Given the description of an element on the screen output the (x, y) to click on. 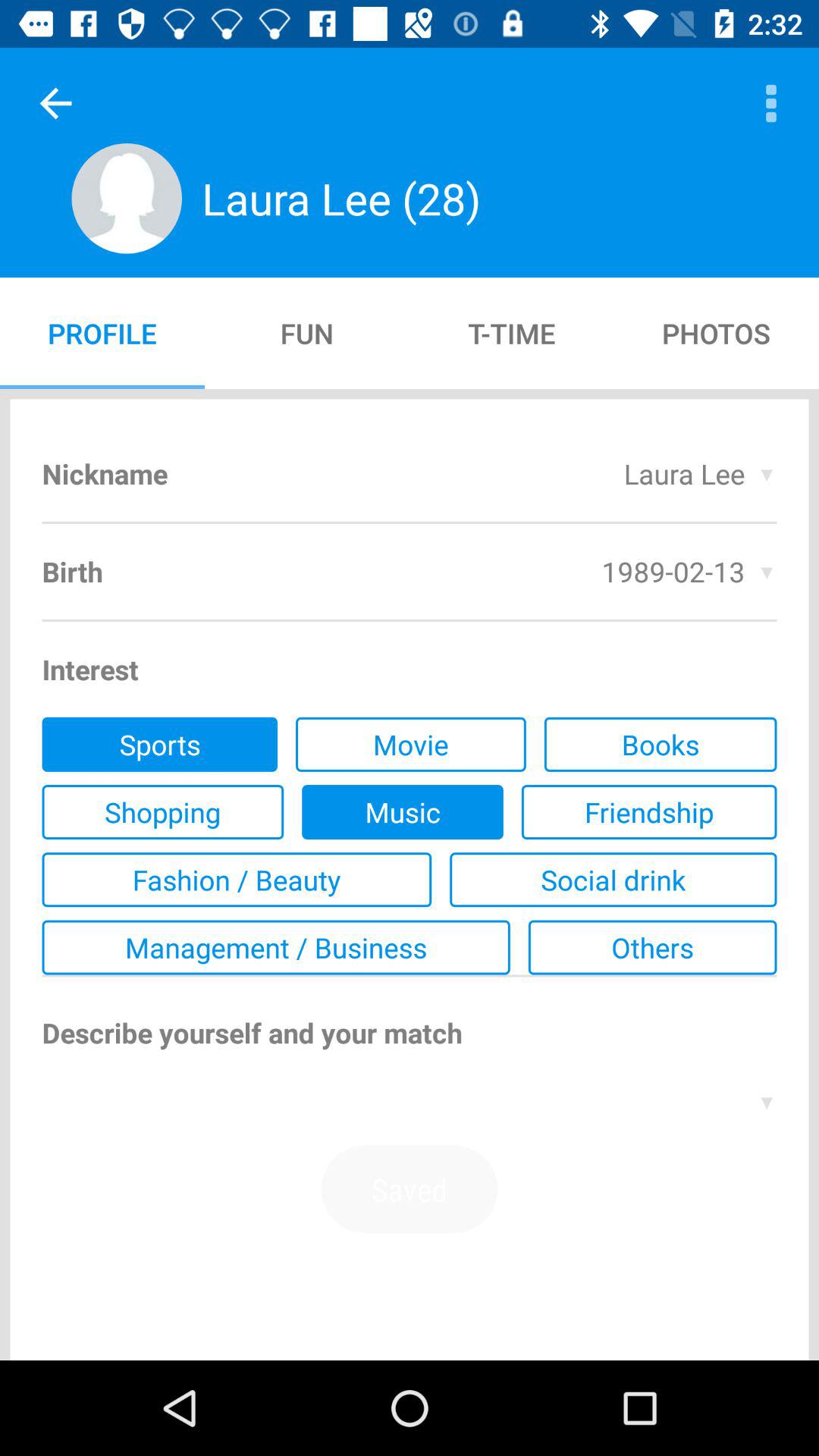
jump to management / business icon (276, 947)
